Given the description of an element on the screen output the (x, y) to click on. 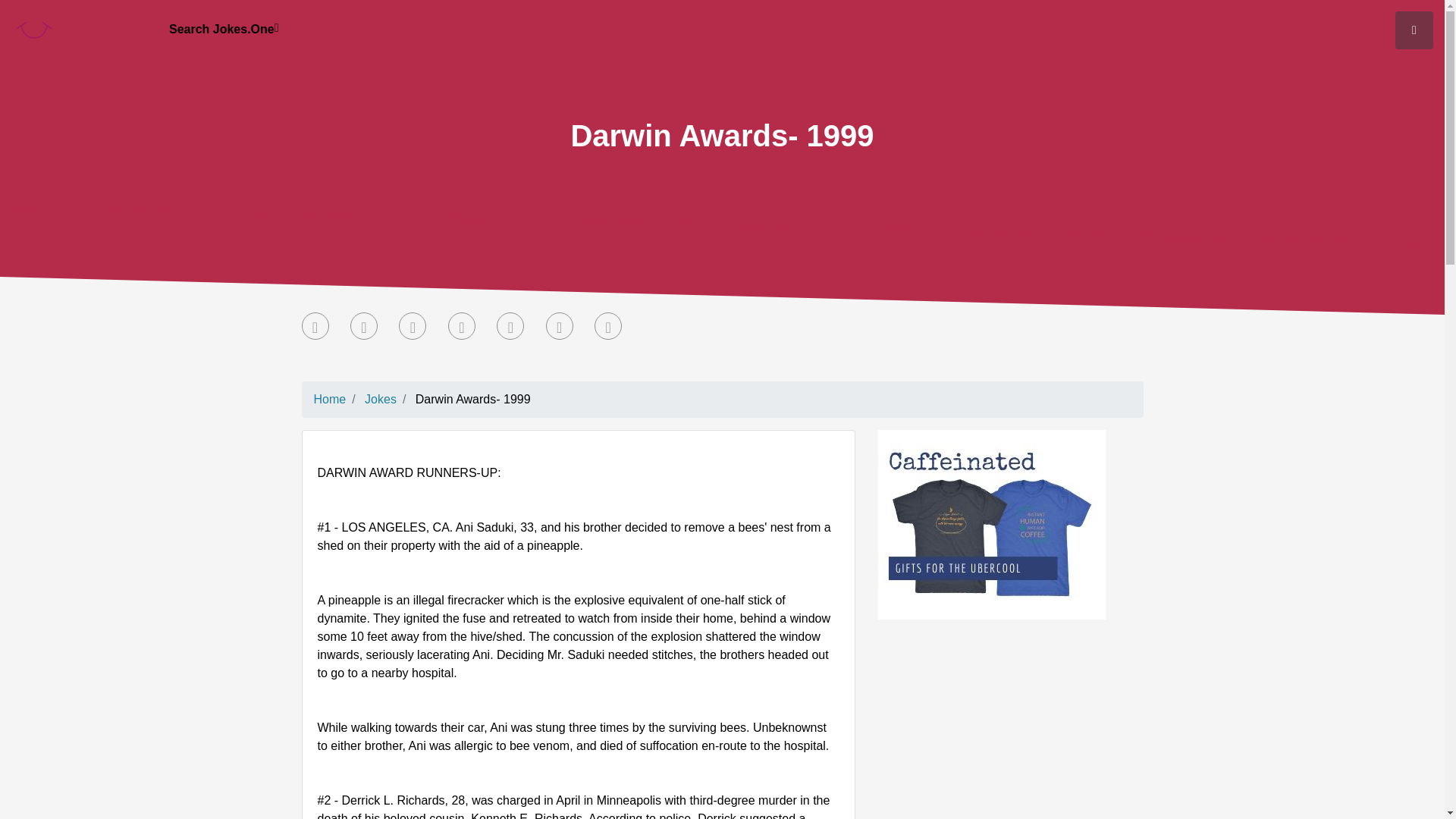
Share this in reddit (510, 325)
Jokes (380, 399)
Share this in stumbleupon (462, 325)
Jokes One (33, 27)
Share this via email (607, 325)
Tweet this (363, 325)
Jokes Home (330, 399)
Bookmark in Google bookmarks (559, 325)
Home (330, 399)
jokes (380, 399)
